Given the description of an element on the screen output the (x, y) to click on. 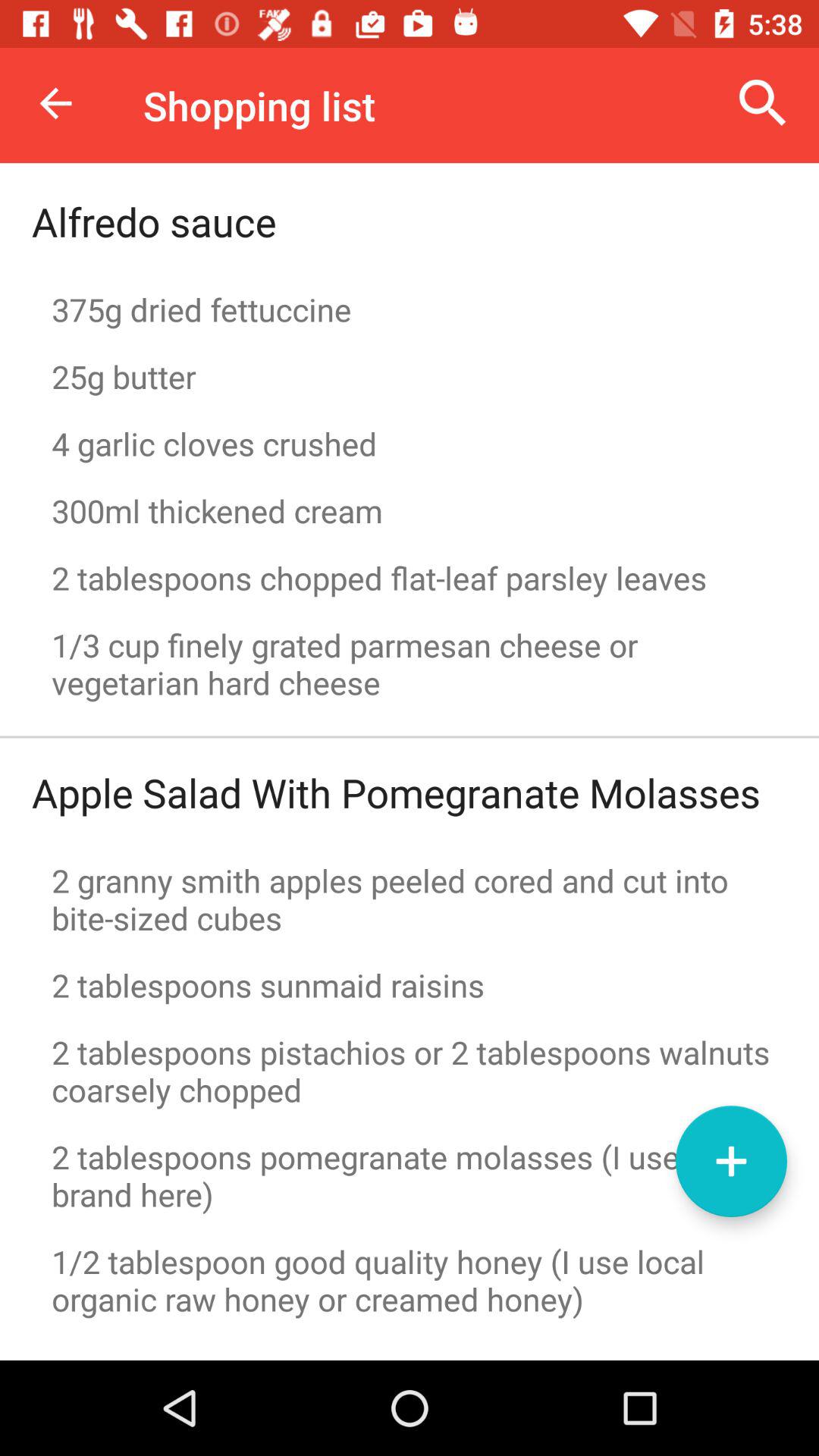
add more option (731, 1161)
